Given the description of an element on the screen output the (x, y) to click on. 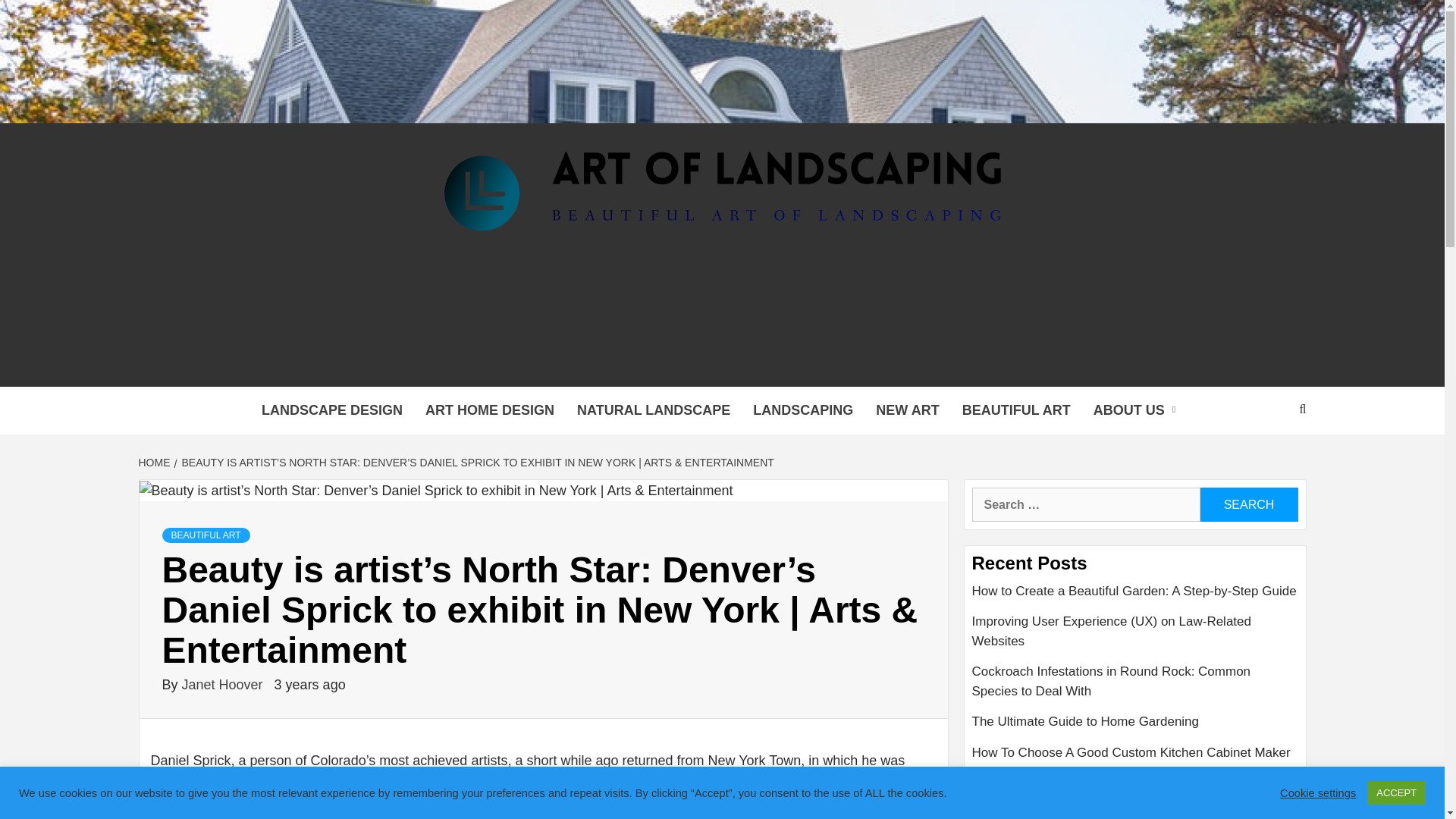
NEW ART (907, 410)
Search (1248, 504)
NATURAL LANDSCAPE (653, 410)
Search (1248, 504)
ABOUT US (1137, 410)
Search (1248, 504)
BEAUTIFUL ART (205, 534)
Janet Hoover (224, 684)
How to Create a Beautiful Garden: A Step-by-Step Guide (1135, 596)
ART OF LANDSCAPING (571, 367)
